Given the description of an element on the screen output the (x, y) to click on. 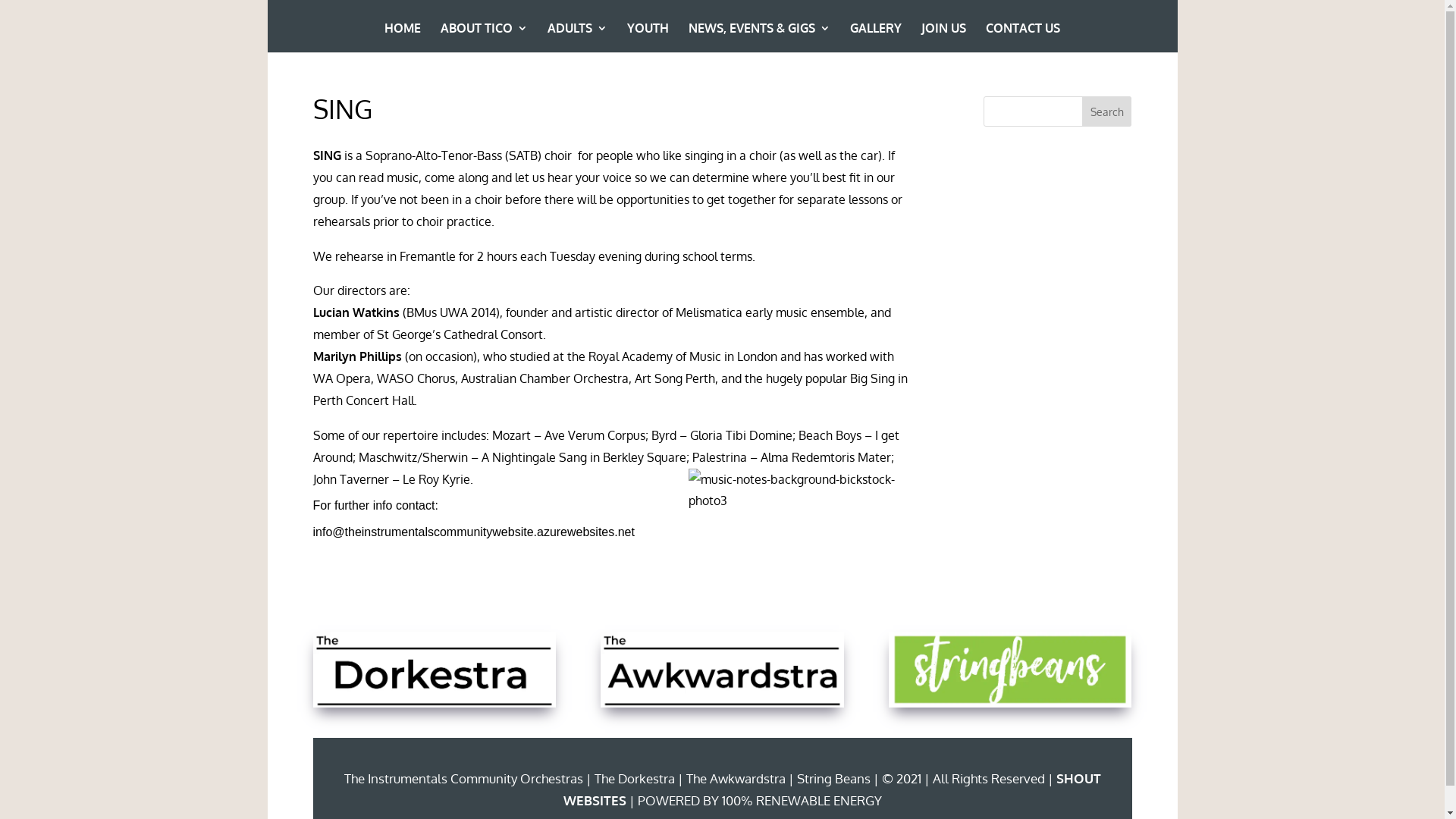
GALLERY Element type: text (875, 37)
info@theinstrumentalscommunitywebsite.azurewebsites.net Element type: text (472, 531)
ADULTS Element type: text (577, 37)
CONTACT US Element type: text (1022, 37)
JOIN US Element type: text (943, 37)
NEWS, EVENTS & GIGS Element type: text (759, 37)
Search Element type: text (1107, 111)
ABOUT TICO Element type: text (483, 37)
stringbeans Element type: hover (1009, 669)
HOME Element type: text (402, 37)
SHOUT WEBSITES | Element type: text (831, 789)
YOUTH Element type: text (647, 37)
awkwardstra Element type: hover (721, 669)
dorkestra Element type: hover (433, 669)
